Given the description of an element on the screen output the (x, y) to click on. 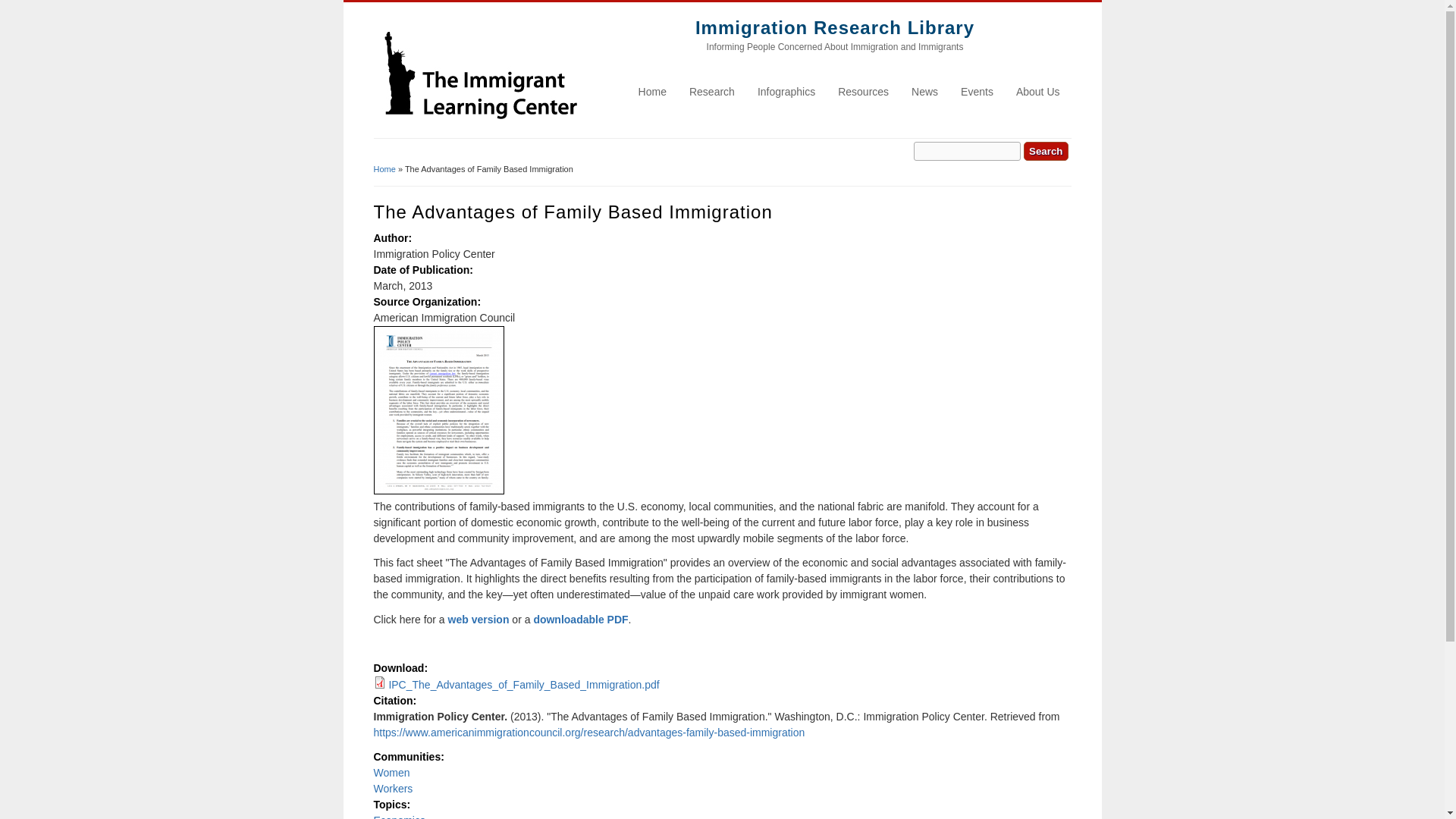
Home (834, 27)
Research (711, 91)
The Advantages of Family Based Immigration (478, 619)
downloadable PDF (579, 619)
web version (478, 619)
Women (390, 772)
About Us (1037, 91)
Home (479, 129)
Home (652, 91)
Workers (392, 788)
Enter the terms you wish to search for. (967, 150)
Events (976, 91)
Search (1045, 150)
The Advantages of Family Based Immigration (579, 619)
Links to other on-line resources that are off this site (863, 91)
